Given the description of an element on the screen output the (x, y) to click on. 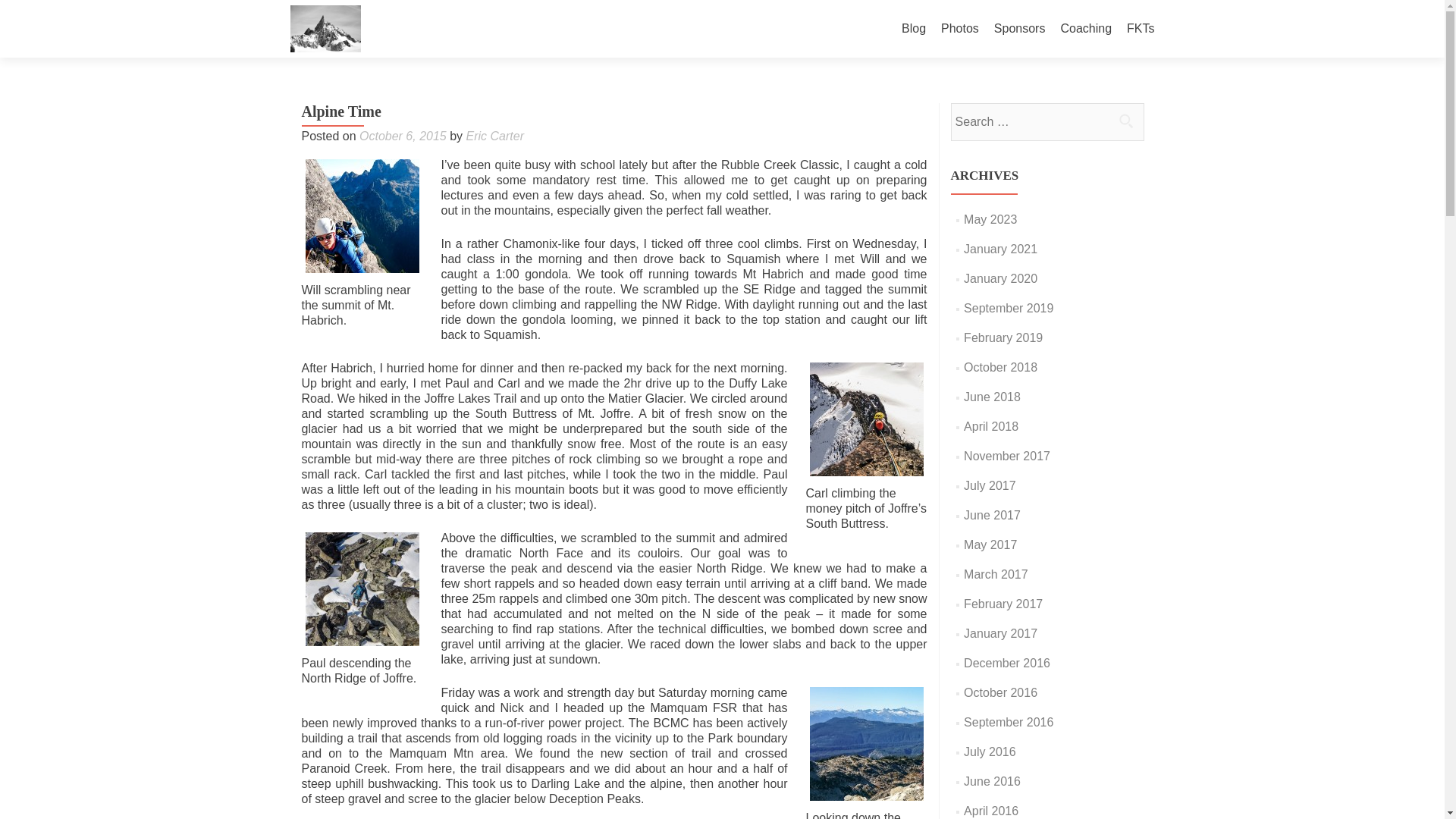
October 6, 2015 (402, 135)
Coaching (1085, 28)
Alpine Time (362, 215)
Sponsors (1019, 28)
Alpine Time (362, 589)
FKTs (1140, 28)
Eric Carter (494, 135)
Alpine Time (865, 418)
Search (1125, 120)
Photos (959, 28)
Blog (913, 28)
Search (1125, 120)
Alpine Time (865, 743)
